Given the description of an element on the screen output the (x, y) to click on. 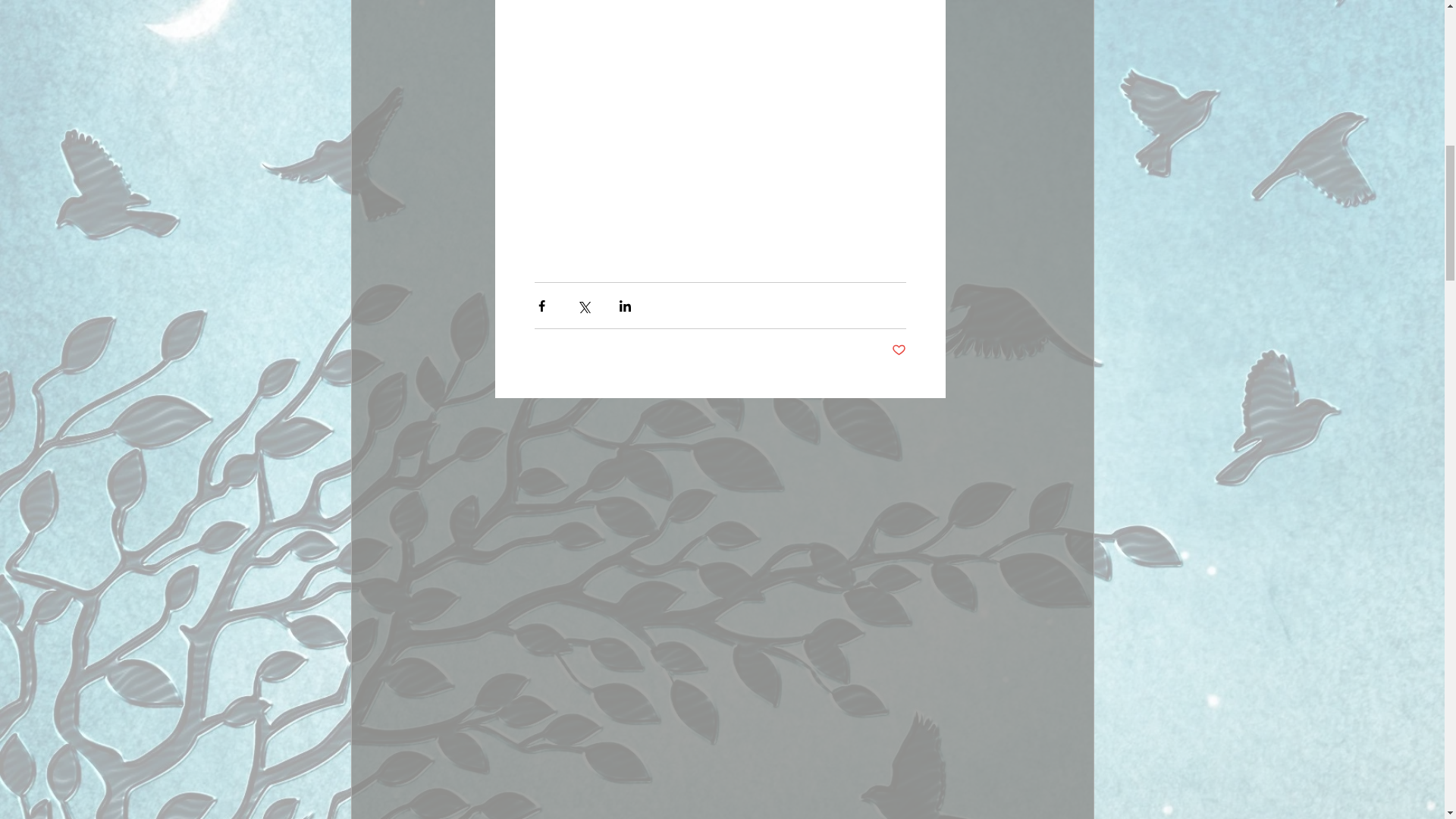
Post not marked as liked (898, 350)
